Given the description of an element on the screen output the (x, y) to click on. 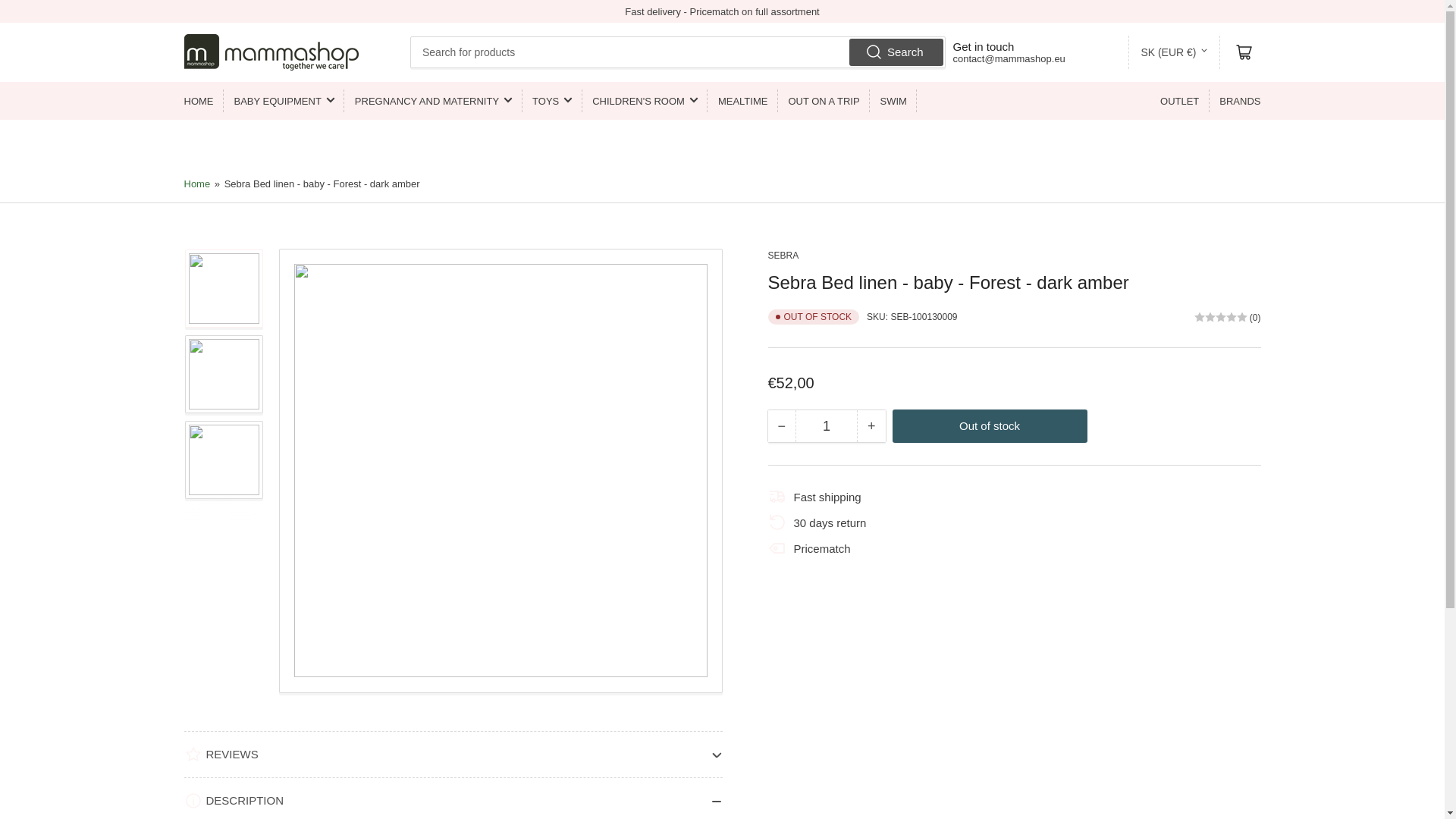
Search (896, 52)
Open mini cart (1243, 52)
1 (825, 426)
